Given the description of an element on the screen output the (x, y) to click on. 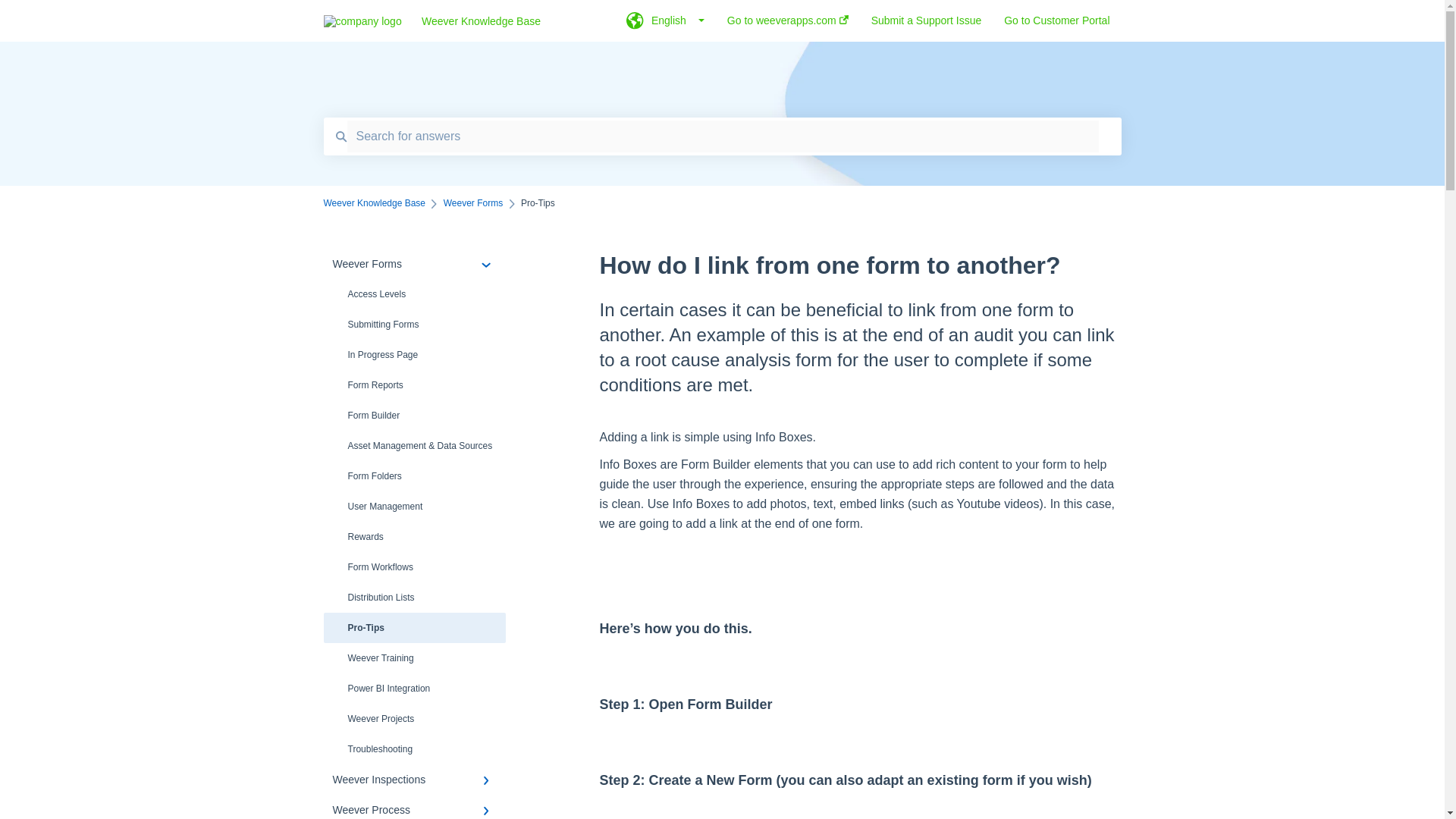
Go to weeverapps.com (787, 25)
Weever Knowledge Base (501, 21)
Submit a Support Issue (925, 25)
English (665, 25)
Go to Customer Portal (1056, 25)
